Given the description of an element on the screen output the (x, y) to click on. 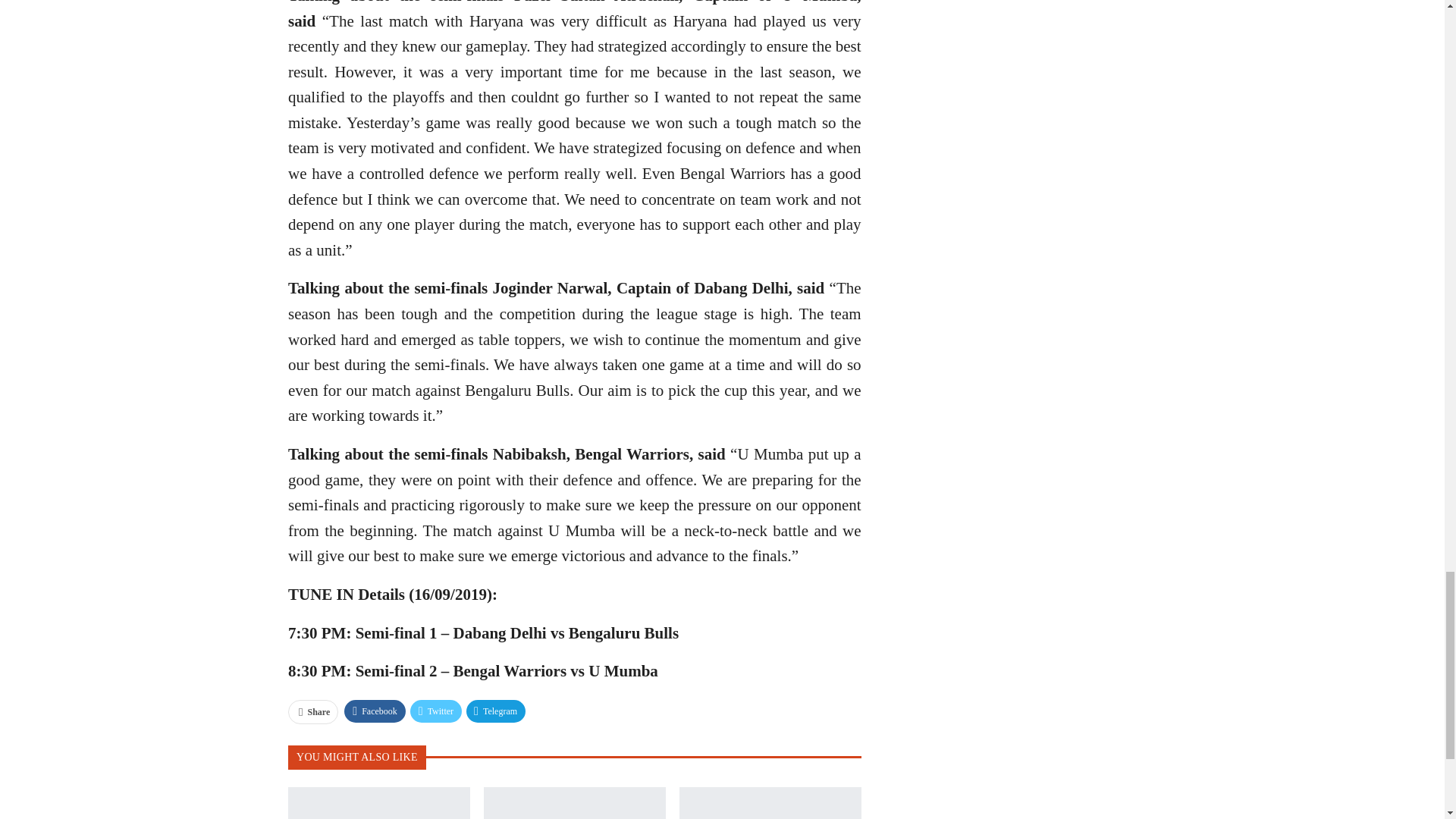
Day 14 Results: Uttar Pradesh Kabaddi League (574, 803)
Twitter (435, 711)
Facebook (374, 711)
Telegram (495, 711)
Lucknow Lions Won The Title Of Uttar Pradesh Kabaddi League (379, 803)
Maha Kabaddi League To Go On The Floors Once Again (770, 803)
YOU MIGHT ALSO LIKE (357, 756)
